Given the description of an element on the screen output the (x, y) to click on. 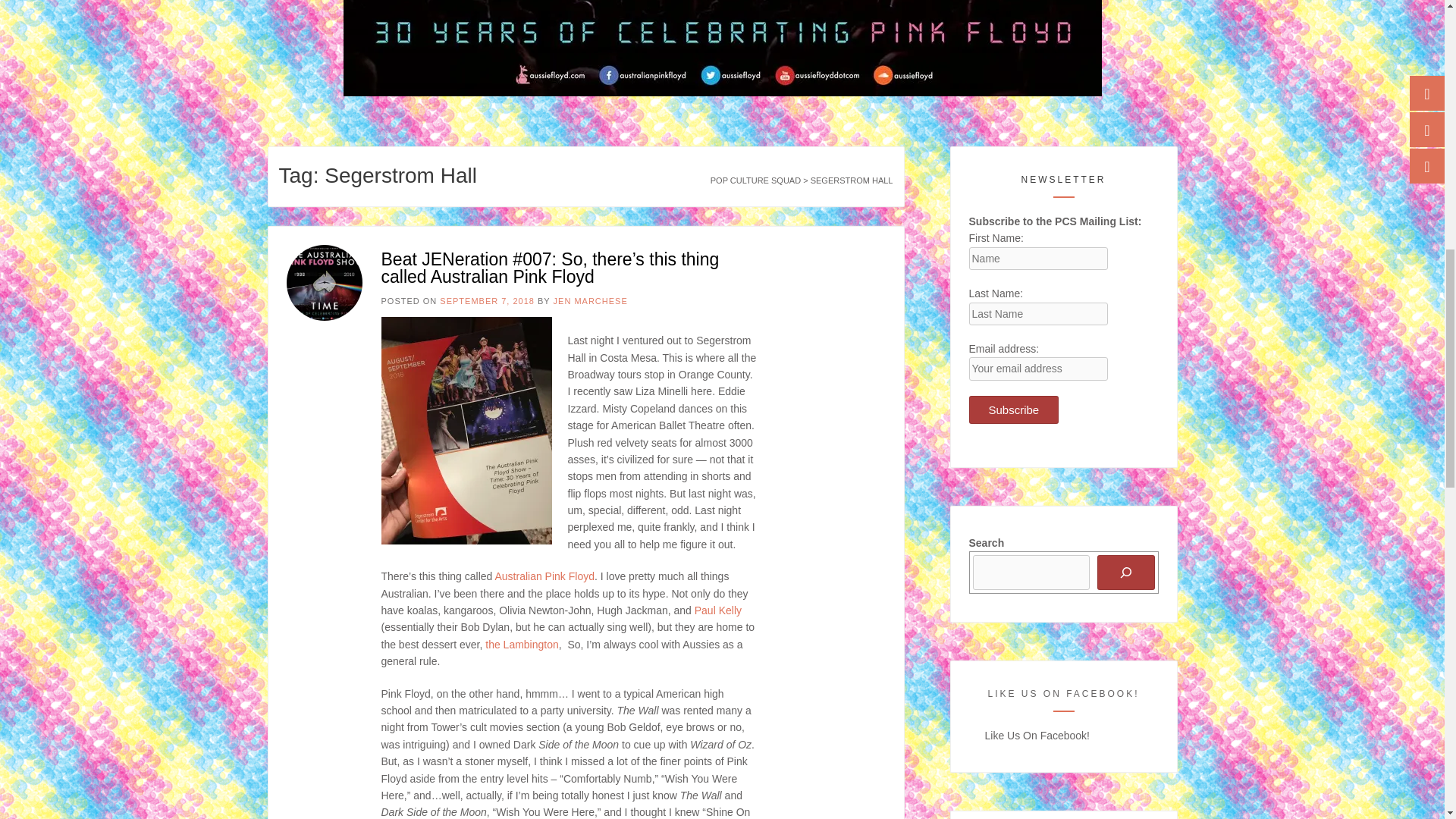
Subscribe (1014, 409)
Go to Pop Culture Squad. (755, 180)
